Given the description of an element on the screen output the (x, y) to click on. 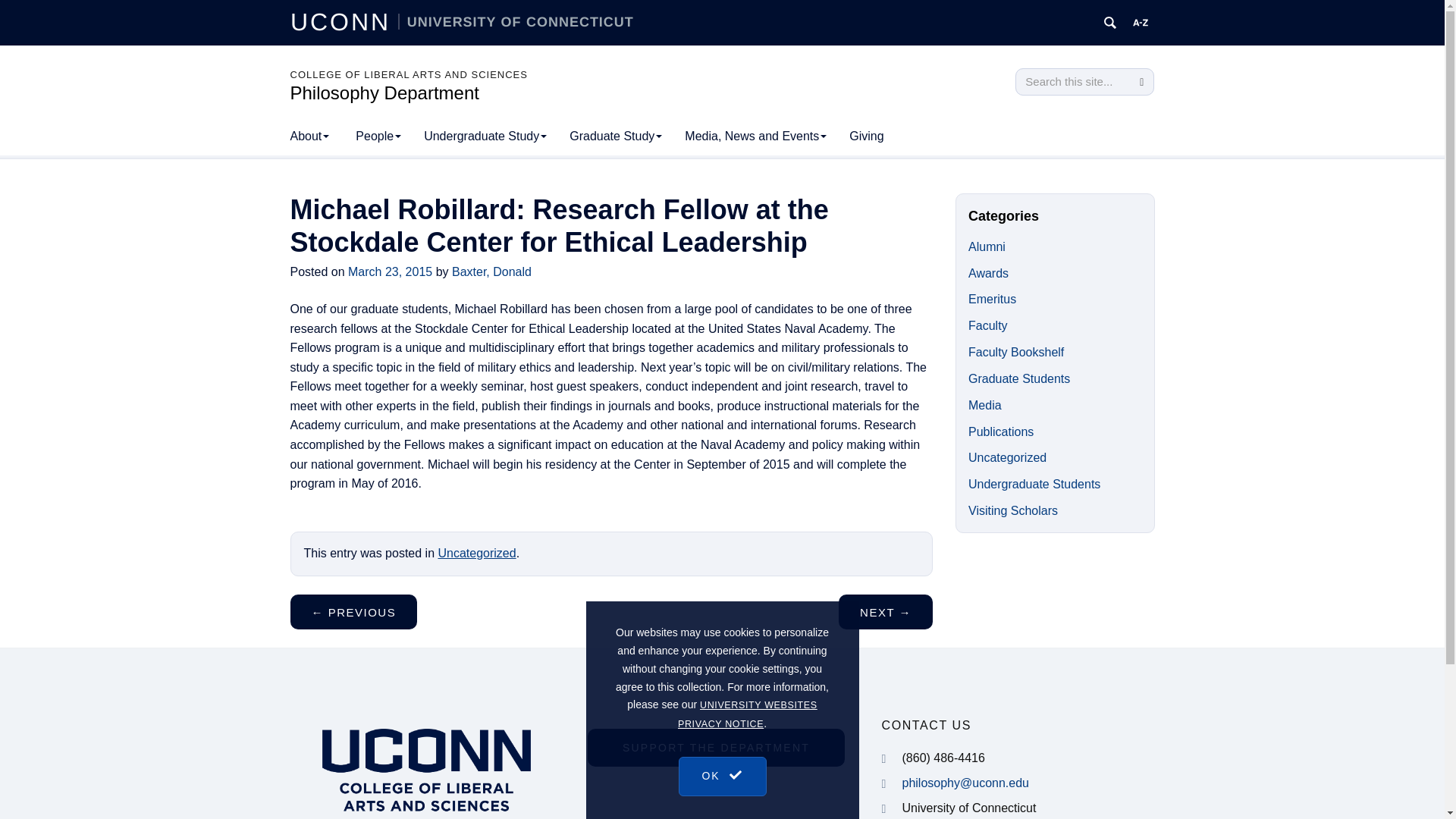
Search (1141, 81)
Search UConn (1109, 22)
About (309, 136)
People (377, 136)
COLLEGE OF LIBERAL ARTS AND SCIENCES (408, 74)
Search this site...  (1072, 81)
Posts by Baxter, Donald (491, 271)
Undergraduate Study (484, 136)
UConn A to Z Index (1140, 22)
UNIVERSITY OF CONNECTICUT (515, 21)
UCONN (343, 21)
Philosophy Department (384, 92)
Graduate Study (614, 136)
Search (1141, 81)
